Given the description of an element on the screen output the (x, y) to click on. 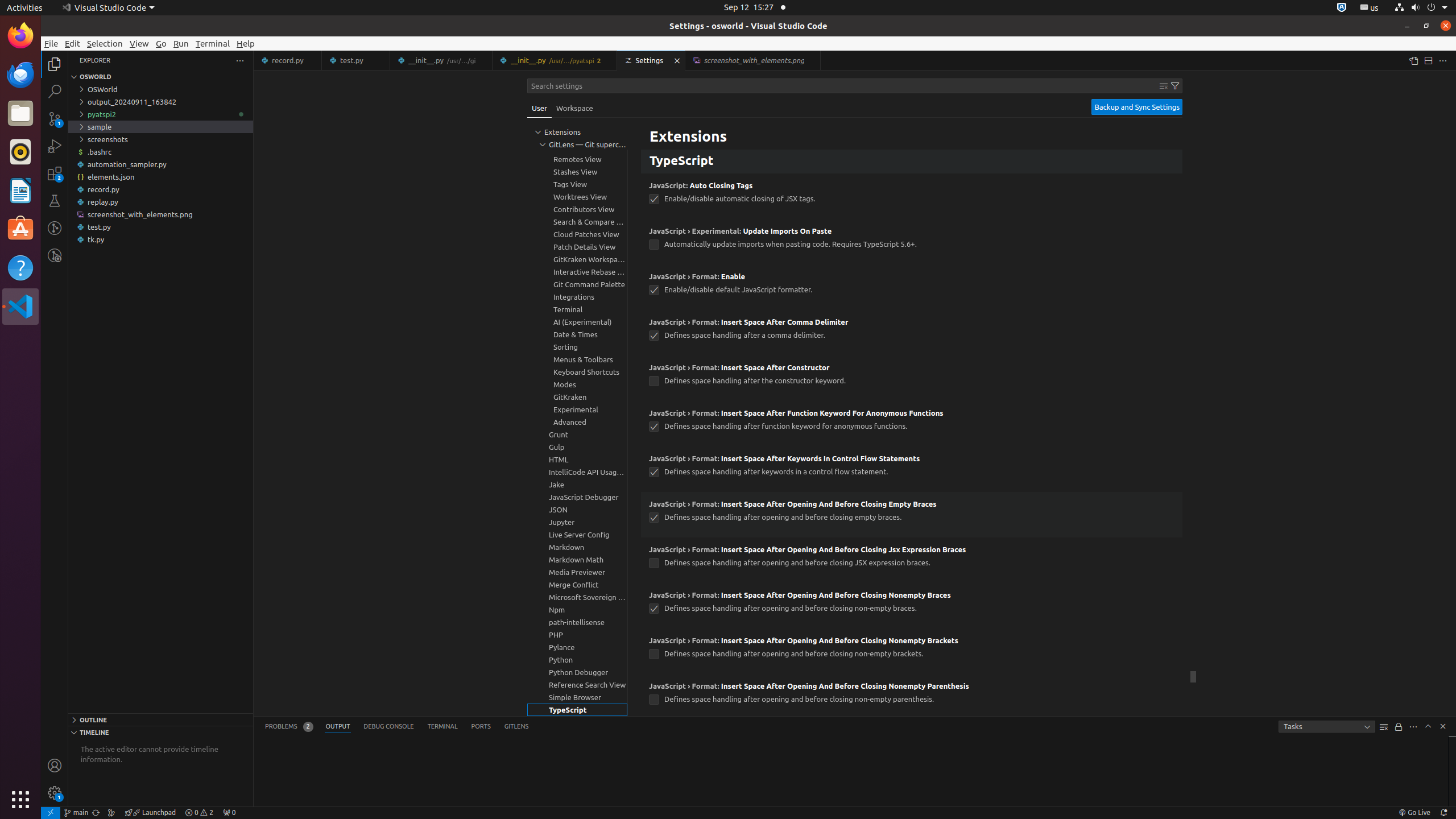
Npm, group Element type: tree-item (577, 609)
GitLens Inspect Element type: page-tab (54, 255)
OSWorld (Git) - Synchronize Changes Element type: push-button (95, 812)
Timeline Section Element type: push-button (160, 731)
Python Debugger, group Element type: tree-item (577, 672)
